Given the description of an element on the screen output the (x, y) to click on. 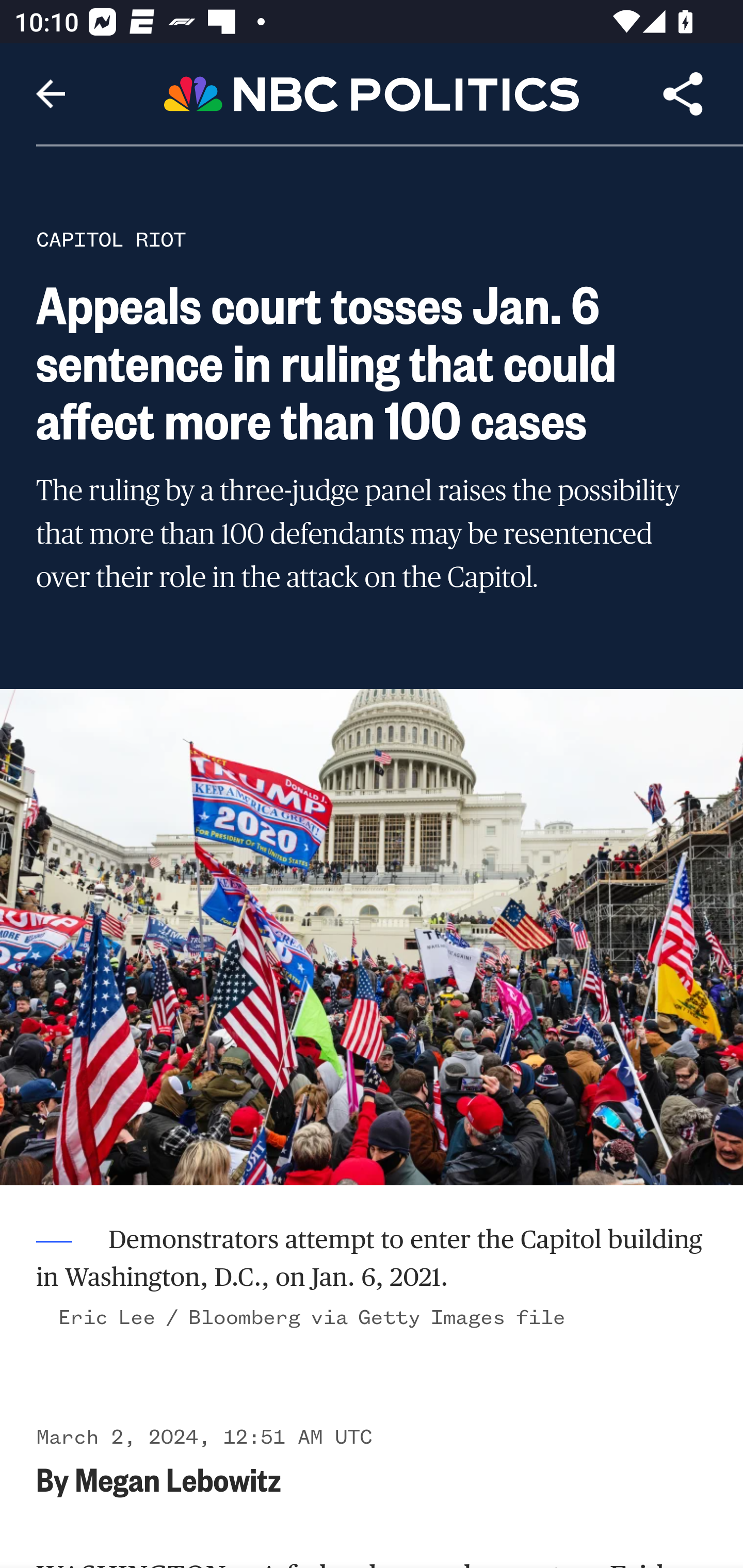
Navigate up (50, 93)
Share Article, button (683, 94)
Header, NBC Politics (371, 93)
CAPITOL RIOT (110, 239)
